Given the description of an element on the screen output the (x, y) to click on. 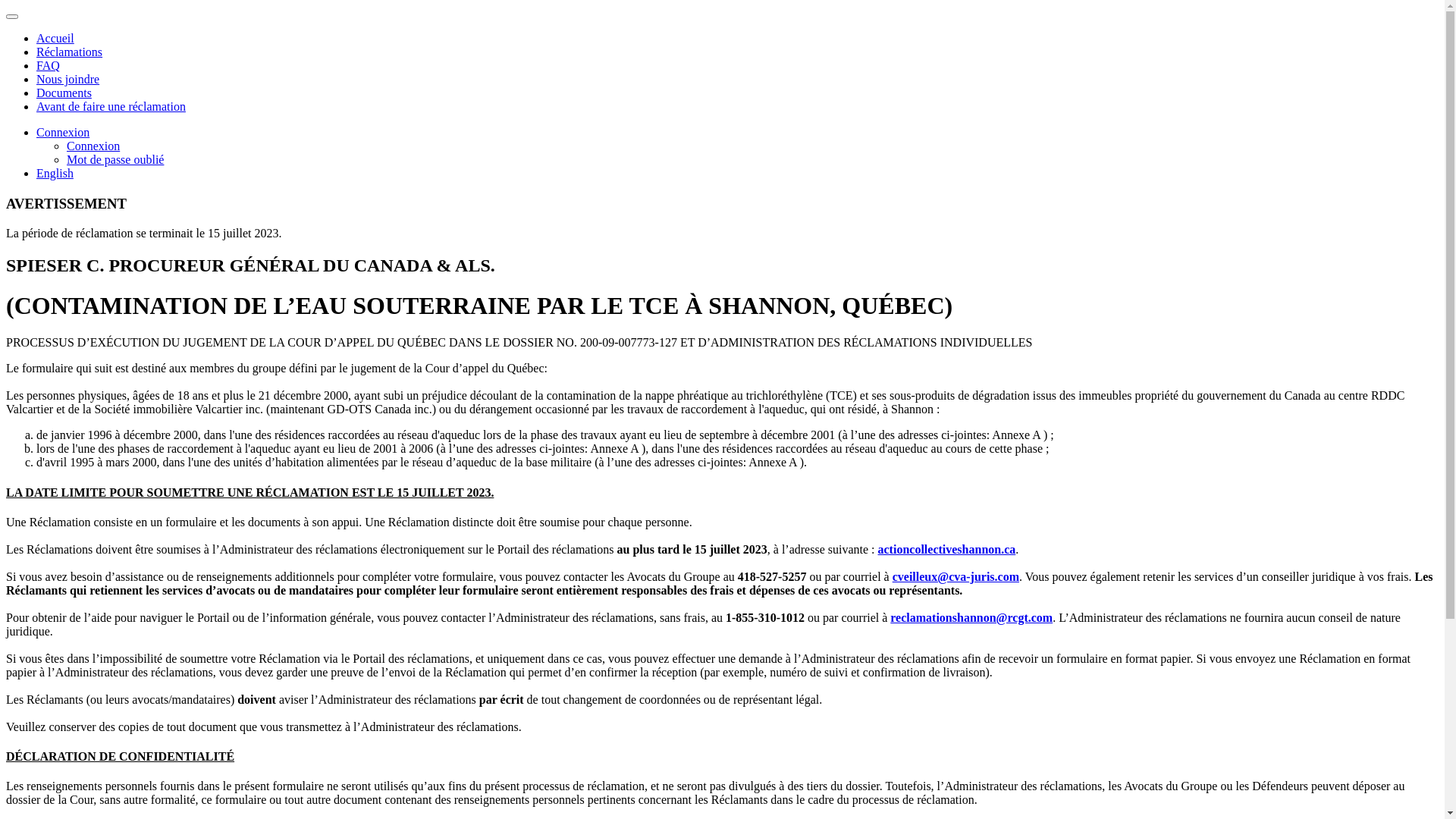
Documents Element type: text (63, 92)
actioncollectiveshannon.ca Element type: text (947, 548)
English Element type: text (54, 172)
FAQ Element type: text (47, 65)
Accueil Element type: text (55, 37)
Connexion Element type: text (92, 145)
reclamationshannon@rcgt.com Element type: text (971, 617)
cveilleux@cva-juris.com Element type: text (955, 576)
Nous joindre Element type: text (67, 78)
Connexion Element type: text (62, 131)
